Given the description of an element on the screen output the (x, y) to click on. 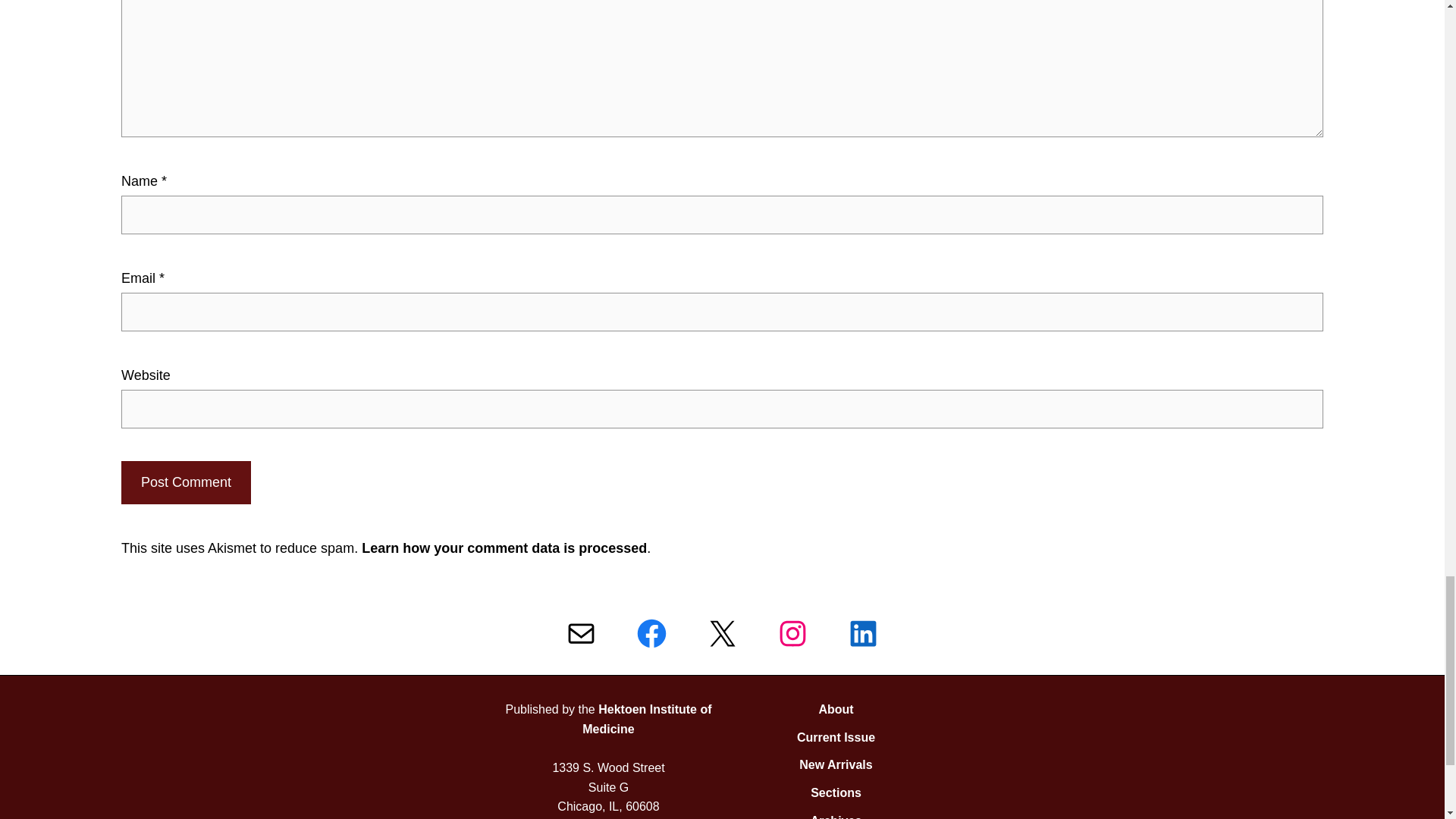
Post Comment (185, 482)
